Given the description of an element on the screen output the (x, y) to click on. 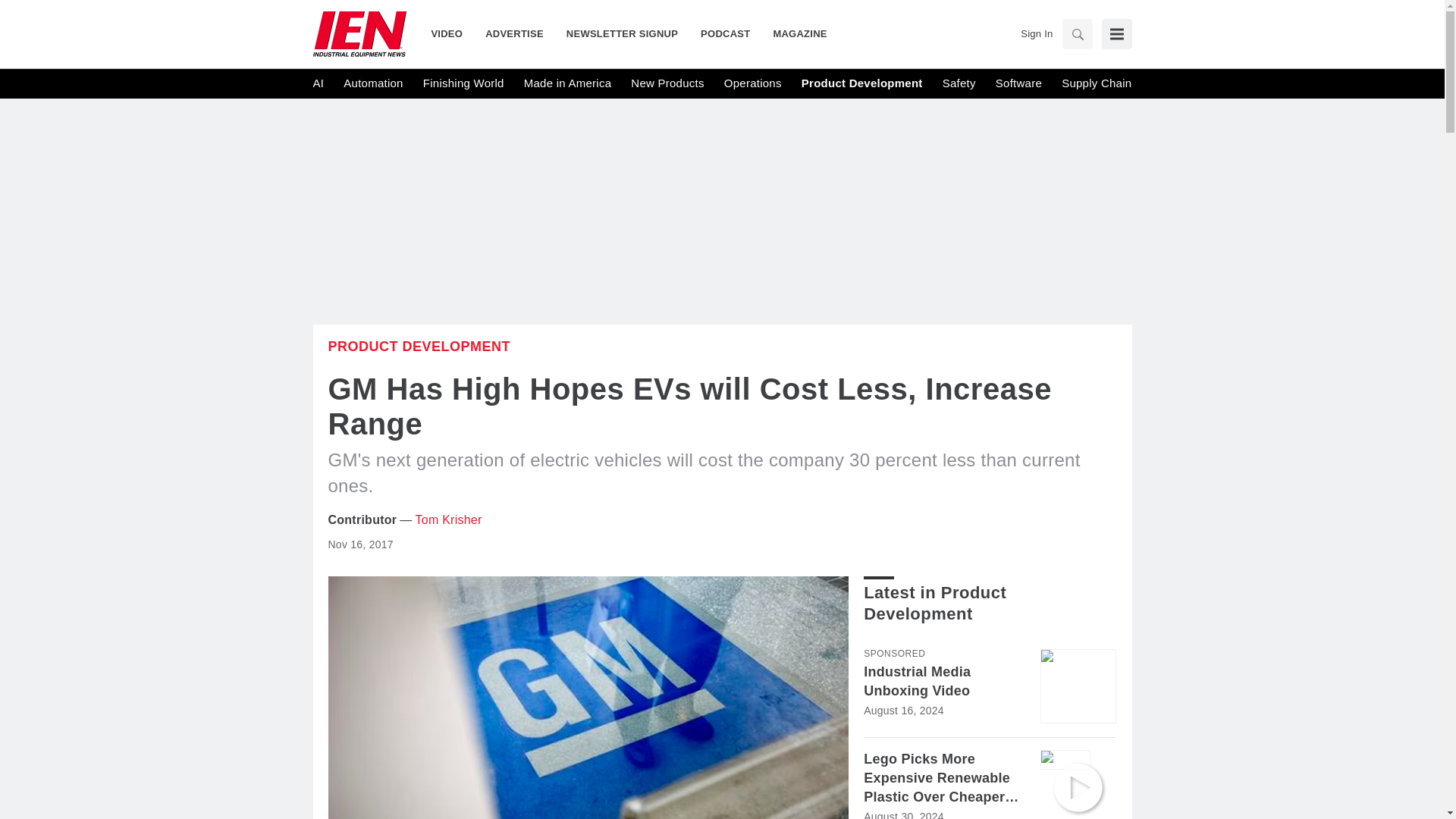
MAGAZINE (794, 33)
NEWSLETTER SIGNUP (621, 33)
PODCAST (724, 33)
ADVERTISE (514, 33)
Software (1018, 83)
VIDEO (452, 33)
Operations (752, 83)
Automation (373, 83)
Supply Chain (1096, 83)
Safety (958, 83)
